Given the description of an element on the screen output the (x, y) to click on. 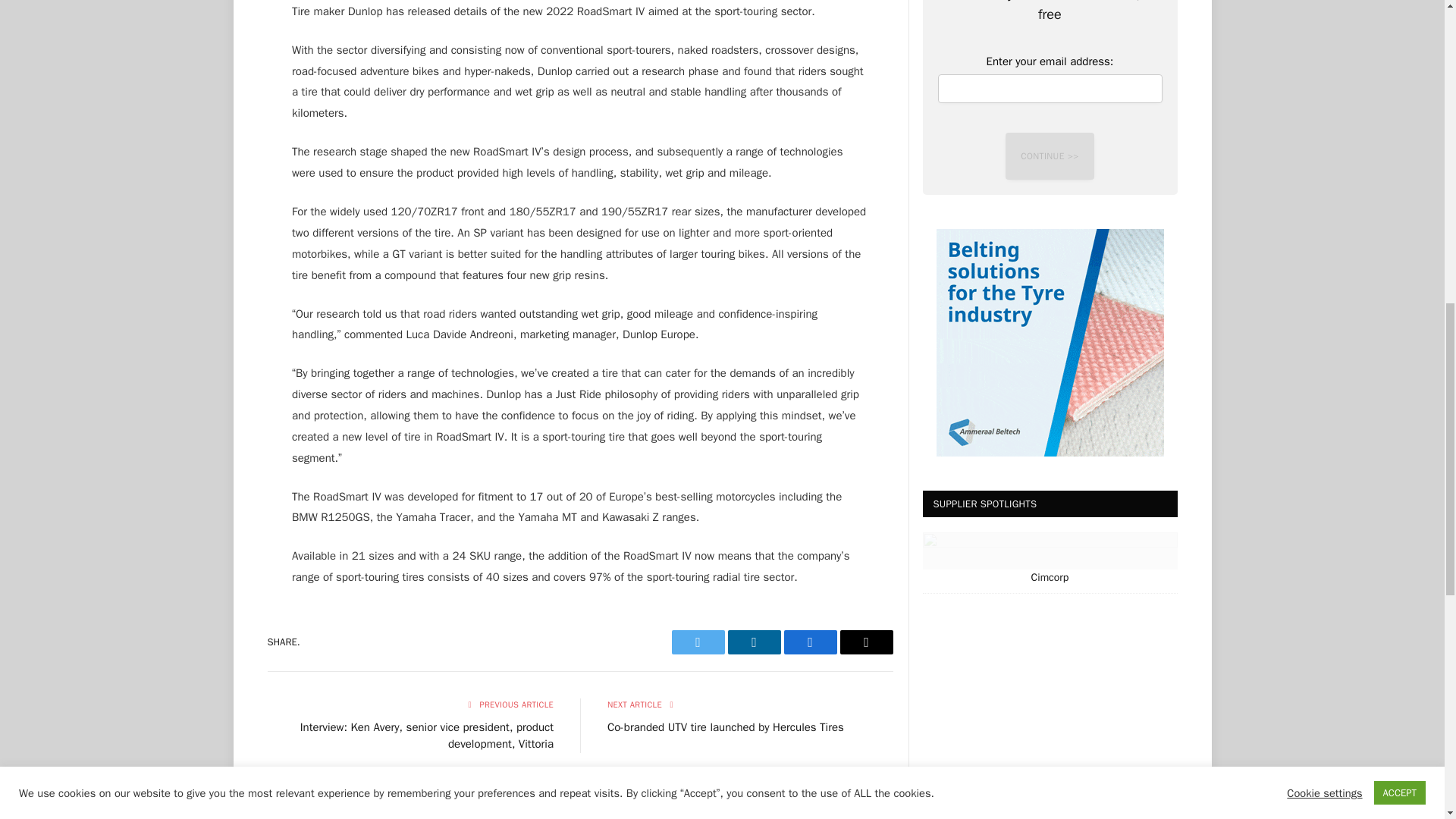
Share on Twitter (698, 641)
Share on LinkedIn (754, 641)
